Given the description of an element on the screen output the (x, y) to click on. 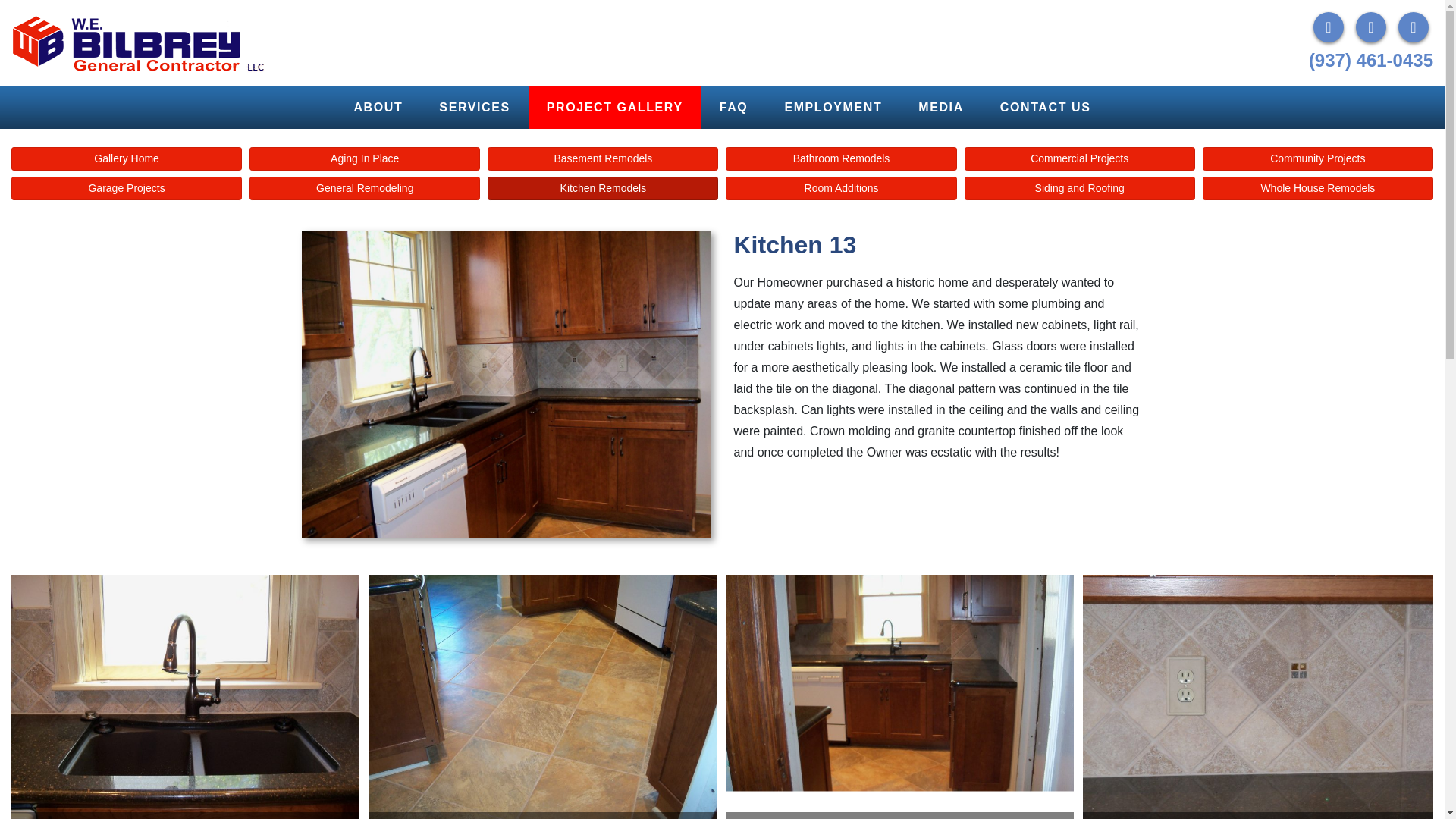
Bathroom Remodels (840, 158)
Aging In Place (364, 158)
EMPLOYMENT (832, 107)
PROJECT GALLERY (614, 107)
Siding and Roofing (1079, 187)
Basement Remodels (602, 158)
Room Additions (840, 187)
Kitchen Remodels (602, 187)
General Remodeling (364, 187)
CONTACT US (1045, 107)
